Given the description of an element on the screen output the (x, y) to click on. 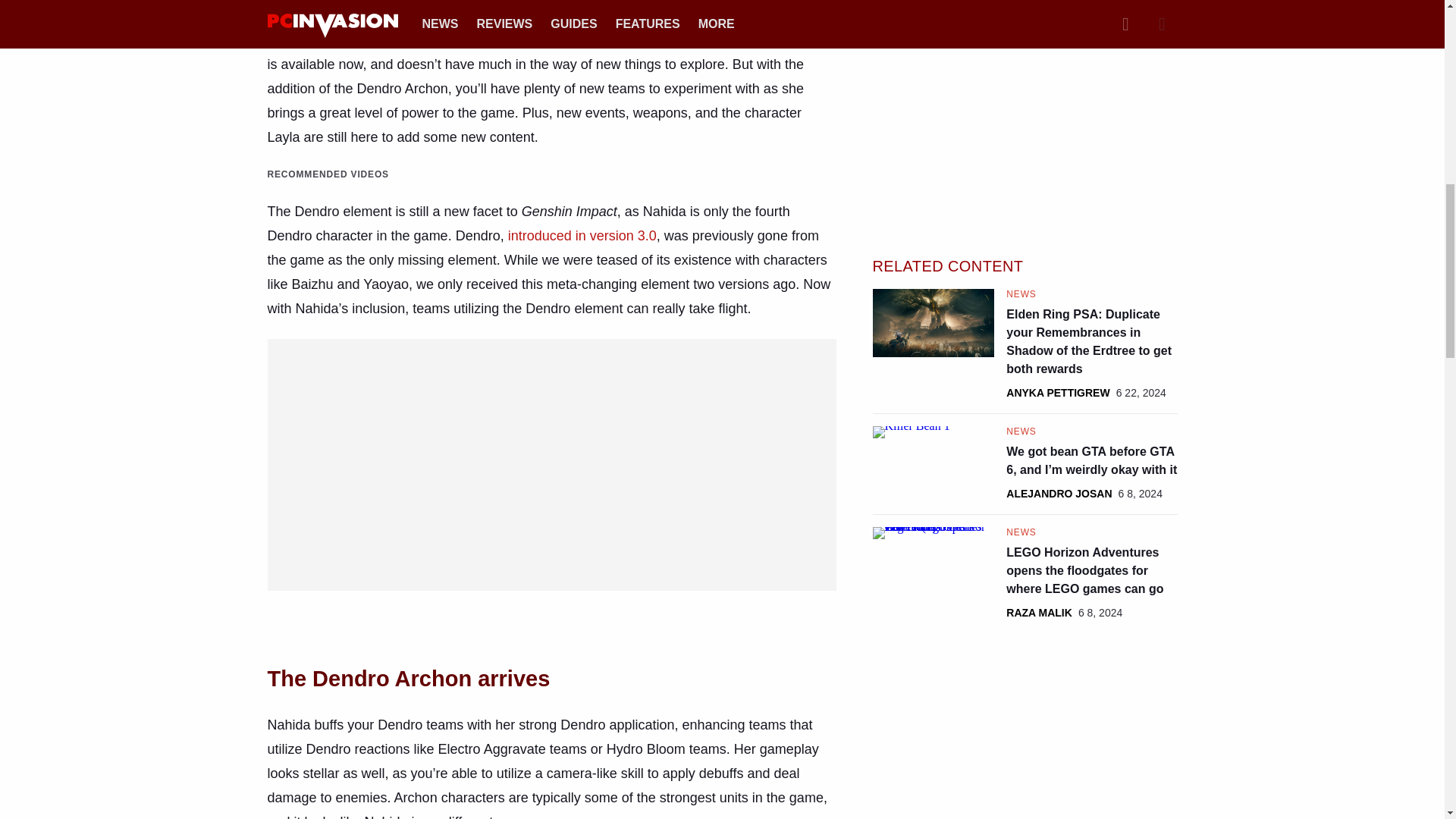
introduced in version 3.0 (582, 235)
